Given the description of an element on the screen output the (x, y) to click on. 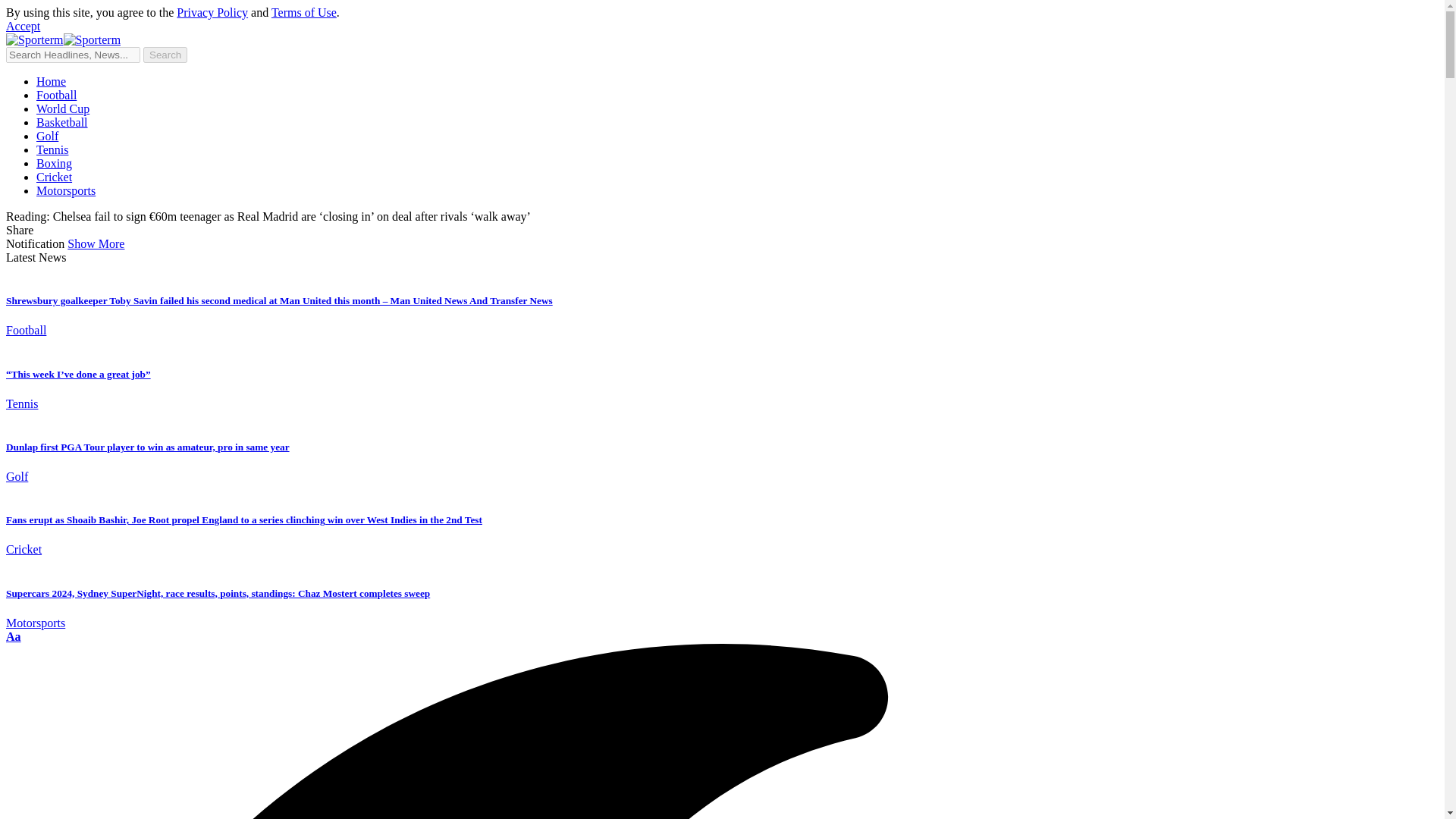
Golf (16, 476)
Golf (47, 135)
Tennis (52, 149)
Home (50, 81)
Boxing (53, 163)
Cricket (23, 549)
Privacy Policy (211, 11)
Basketball (61, 122)
Sporterm (62, 39)
World Cup (62, 108)
Search (164, 54)
Aa (13, 635)
Cricket (53, 176)
Terms of Use (303, 11)
